Given the description of an element on the screen output the (x, y) to click on. 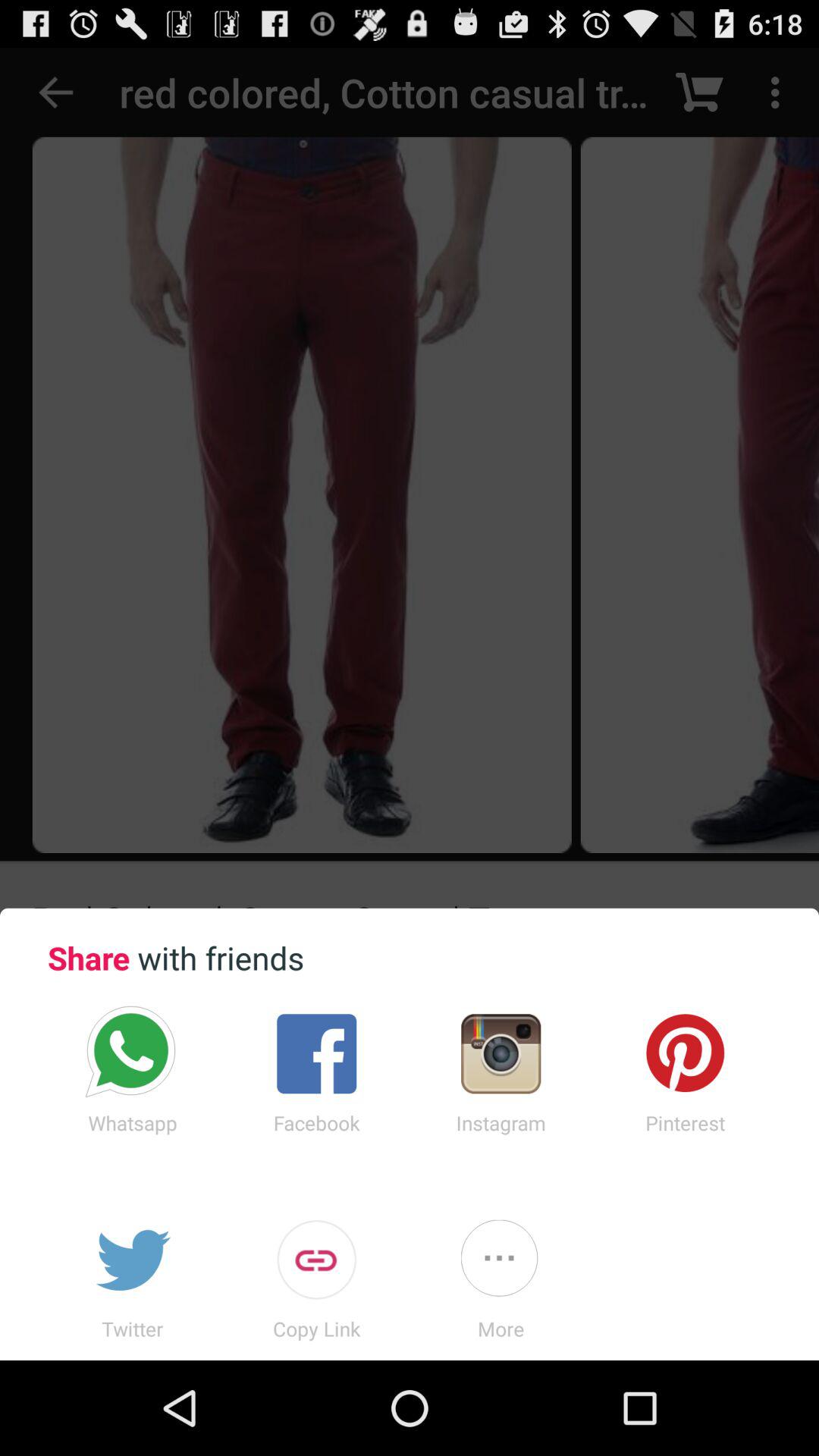
click item above share with friends (409, 477)
